Given the description of an element on the screen output the (x, y) to click on. 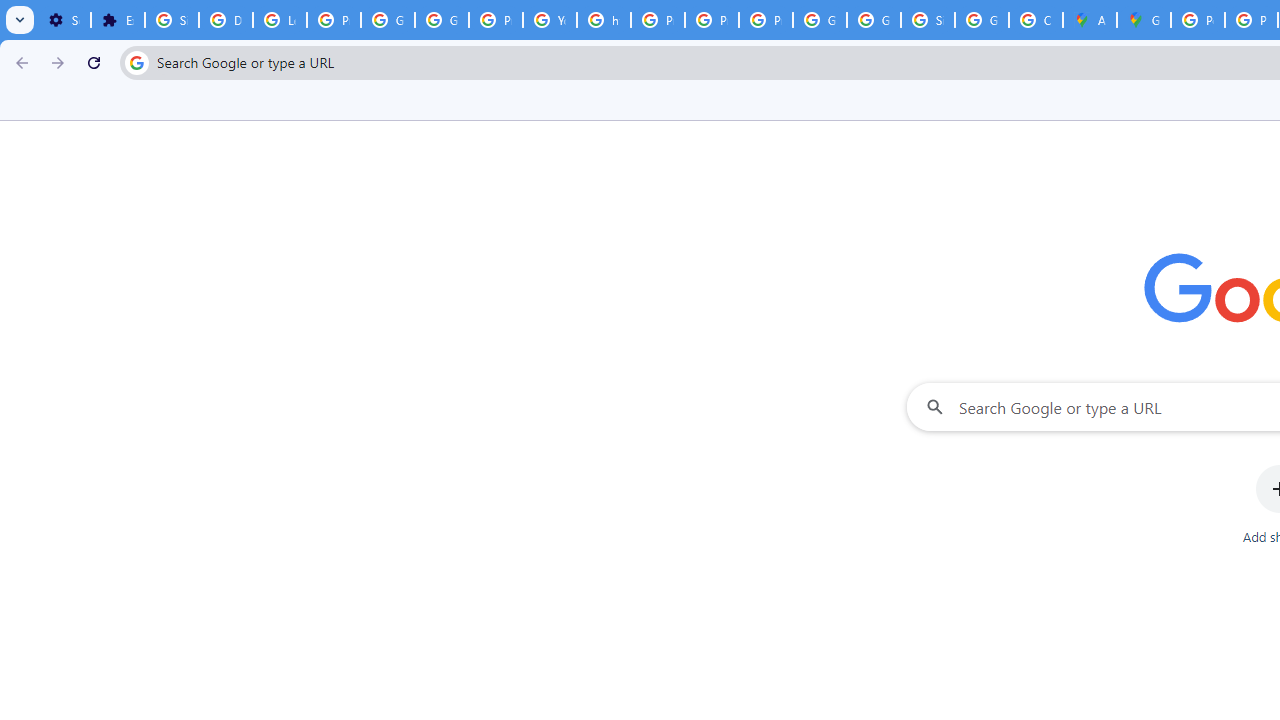
Search icon (136, 62)
Sign in - Google Accounts (927, 20)
Extensions (117, 20)
Google Account Help (387, 20)
Google Account Help (441, 20)
Google Maps (1144, 20)
Create your Google Account (1035, 20)
Learn how to find your photos - Google Photos Help (280, 20)
YouTube (550, 20)
